Given the description of an element on the screen output the (x, y) to click on. 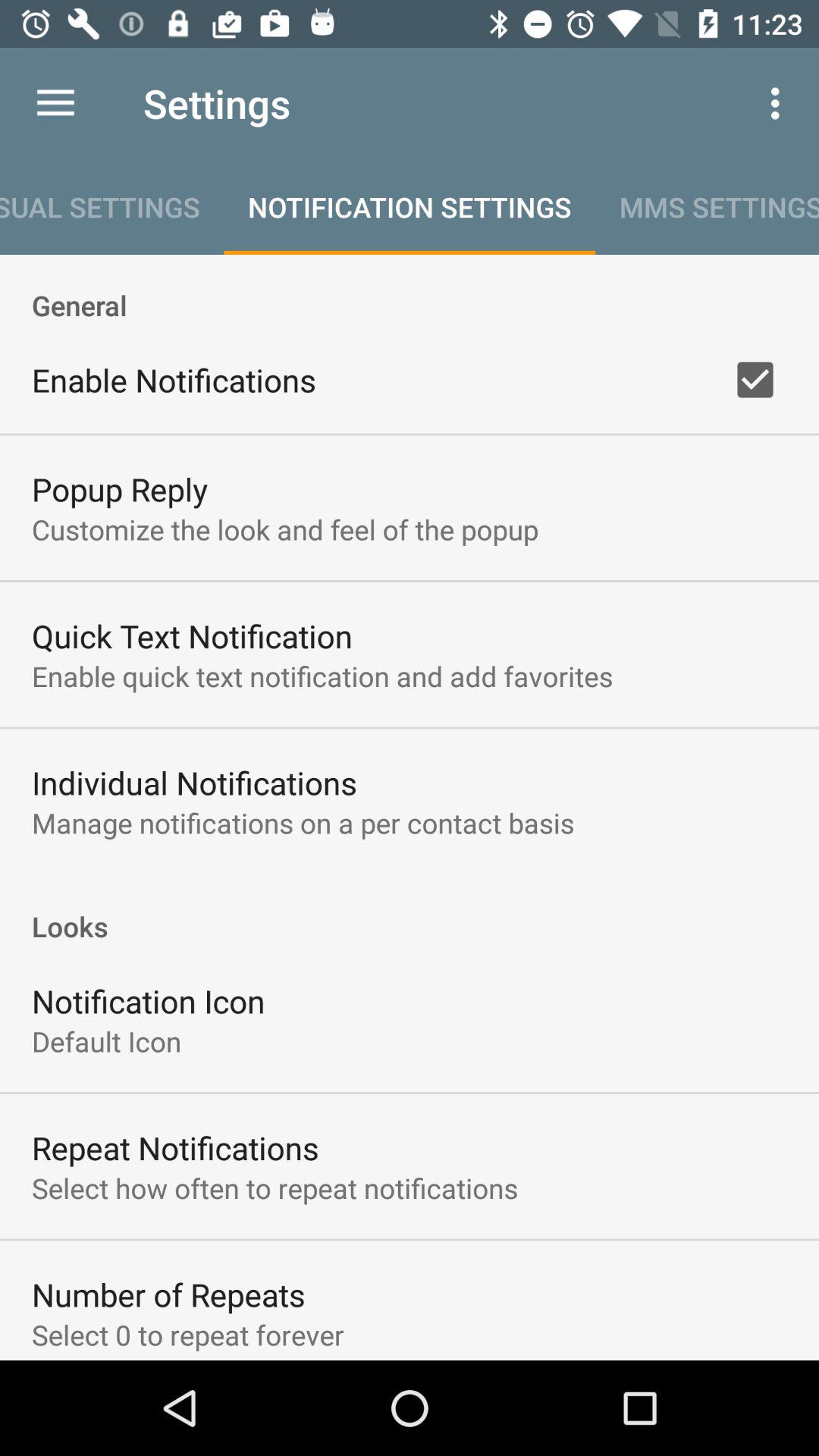
turn on the default icon icon (106, 1041)
